Given the description of an element on the screen output the (x, y) to click on. 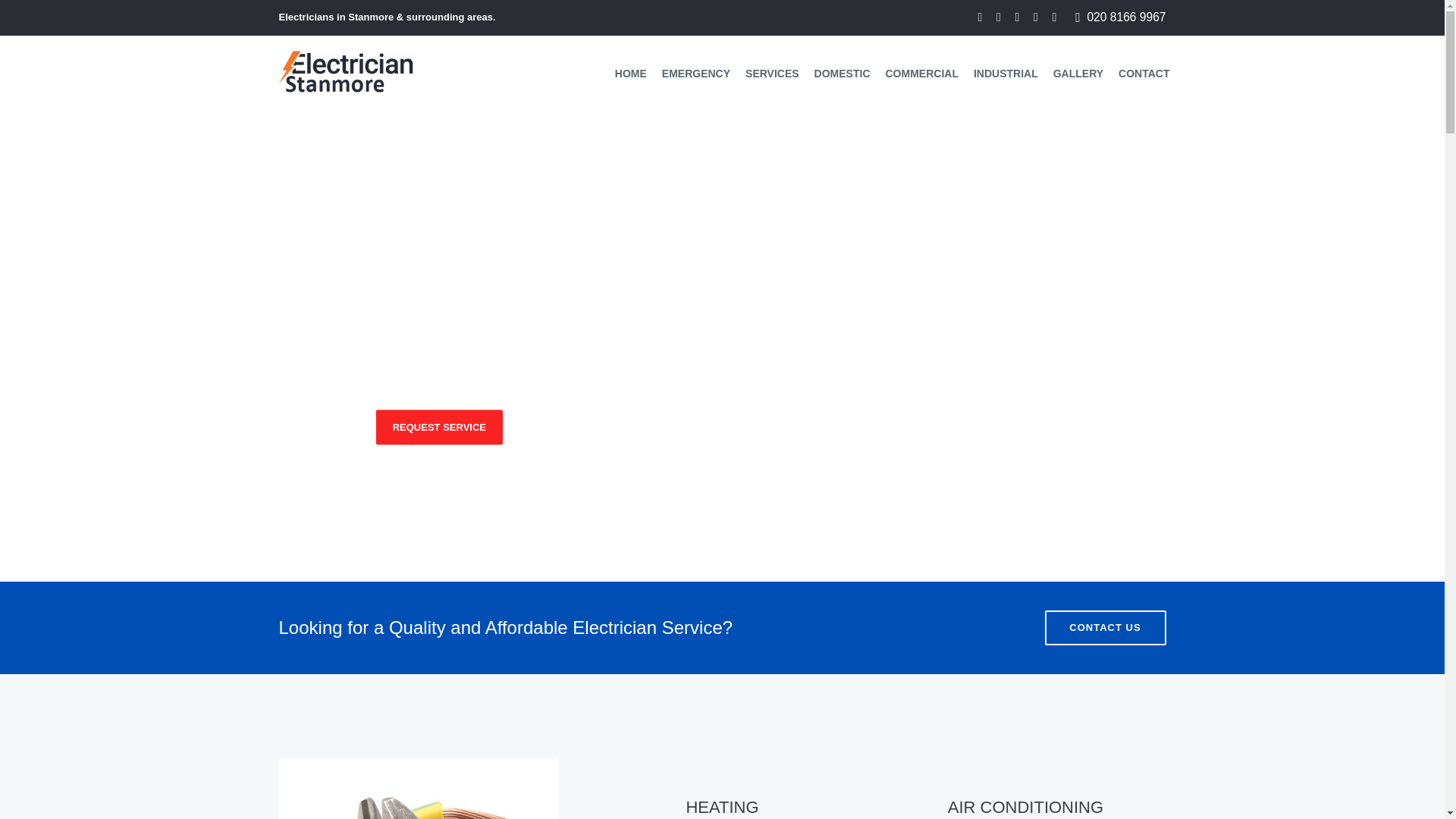
EMERGENCY (695, 73)
020 8166 9967 (1126, 16)
REQUEST SERVICE (438, 426)
SERVICES (320, 426)
DOMESTIC (841, 73)
SERVICES (772, 73)
COMMERCIAL (921, 73)
INDUSTRIAL (1005, 73)
